Given the description of an element on the screen output the (x, y) to click on. 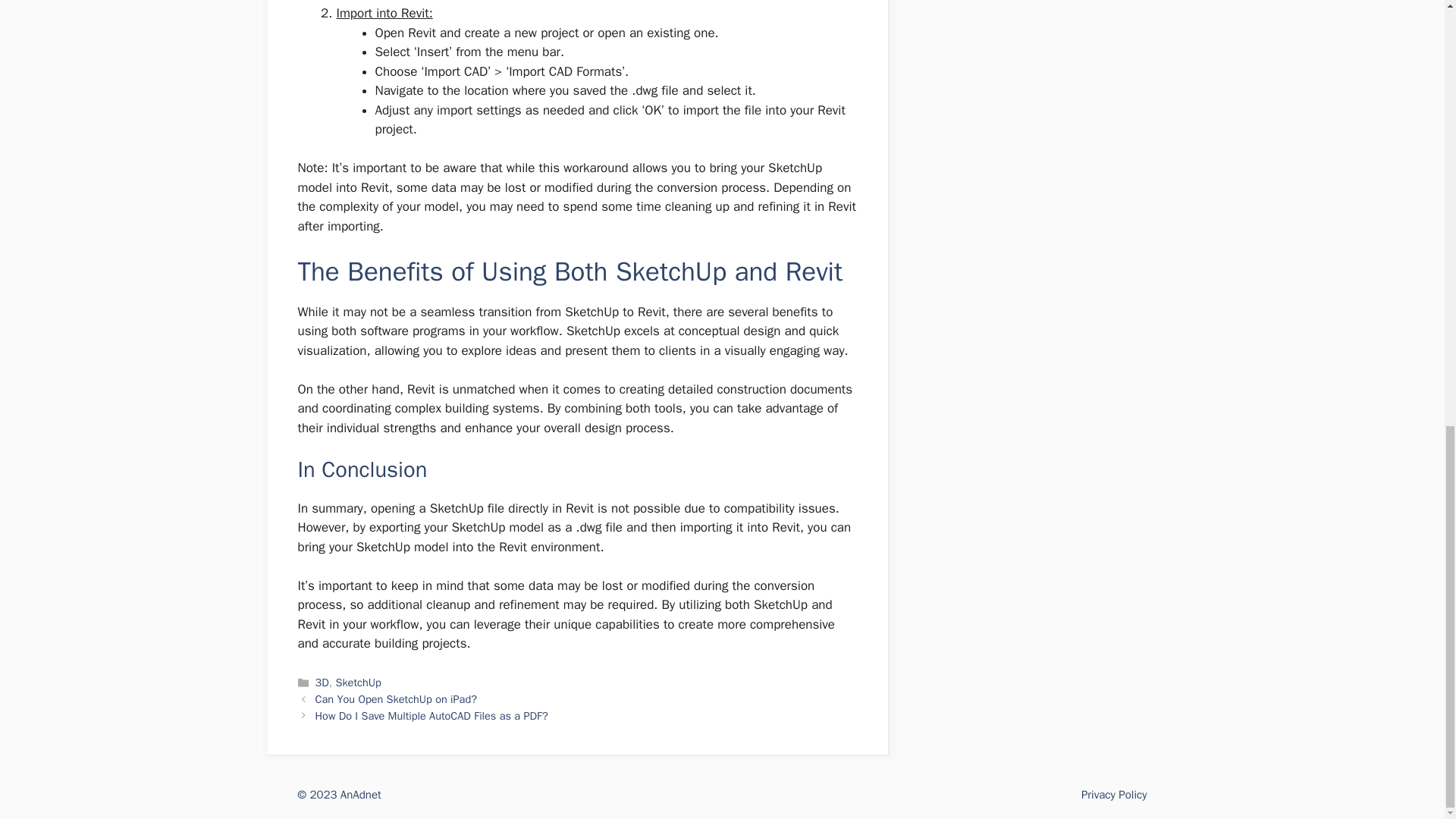
3D (322, 682)
Privacy Policy (1114, 794)
Can You Open SketchUp on iPad? (396, 698)
SketchUp (357, 682)
How Do I Save Multiple AutoCAD Files as a PDF? (431, 715)
